Given the description of an element on the screen output the (x, y) to click on. 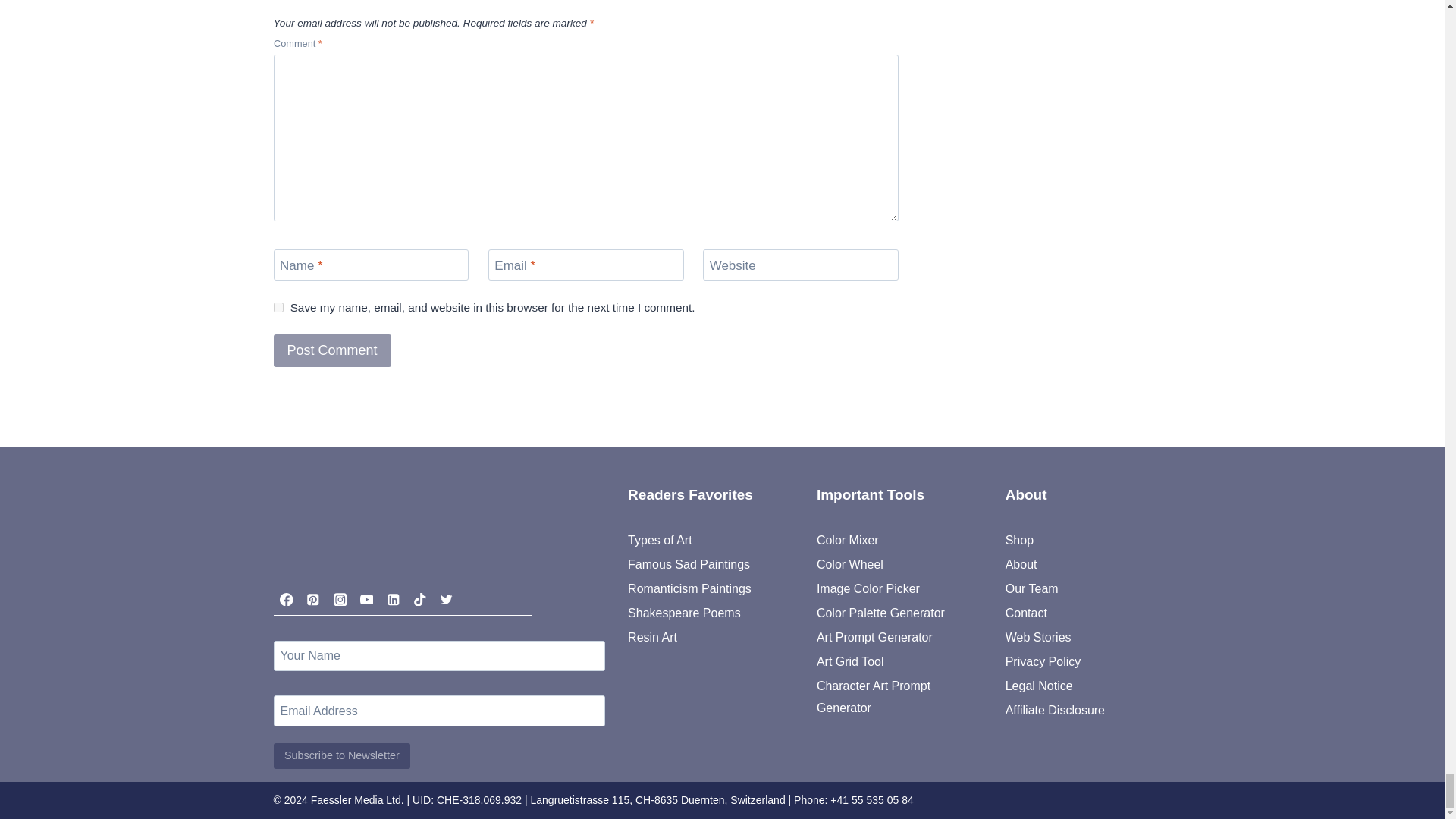
Post Comment (331, 350)
yes (277, 307)
